Given the description of an element on the screen output the (x, y) to click on. 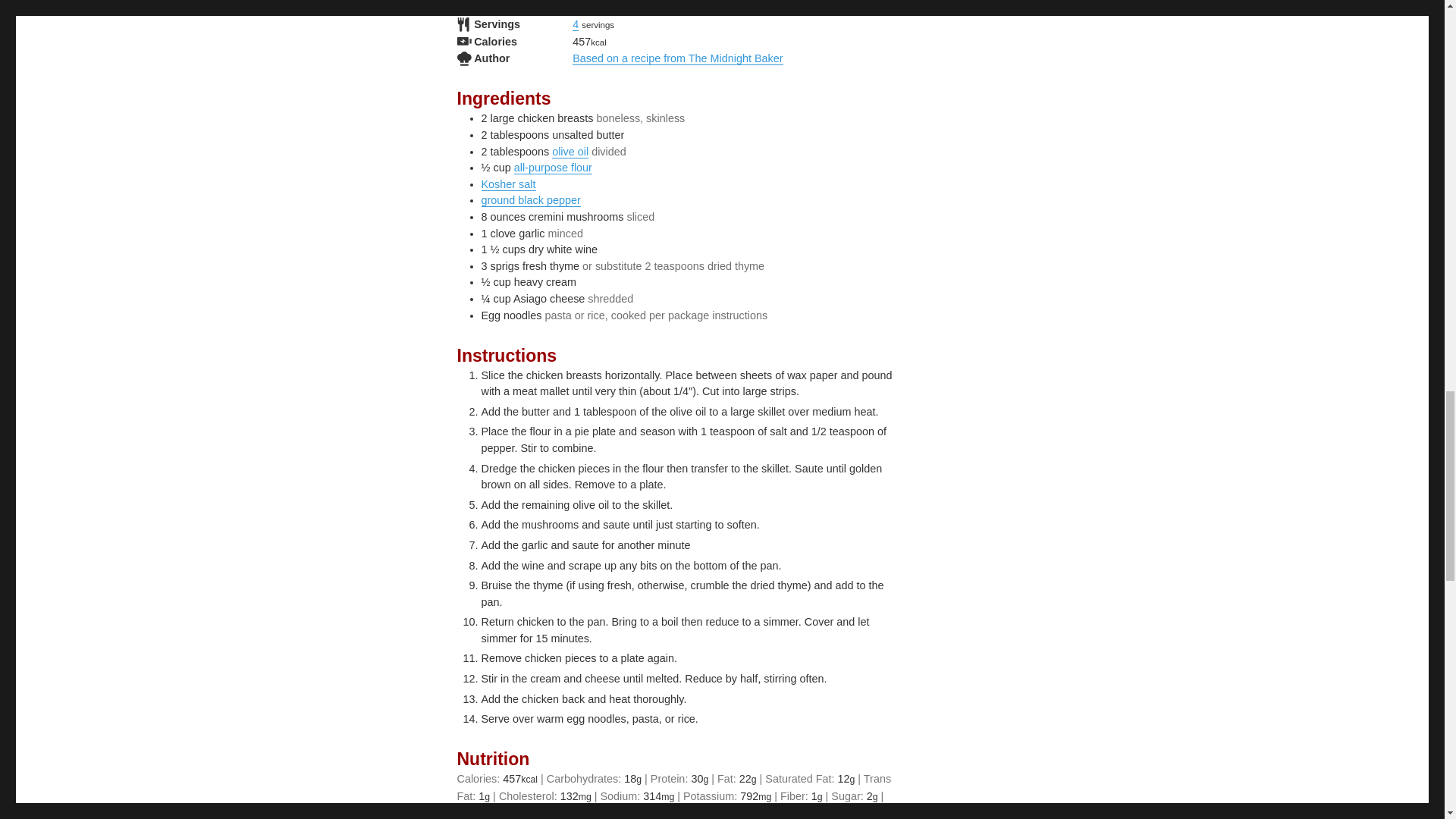
Based on a recipe from The Midnight Baker (677, 58)
olive oil (569, 151)
ground black pepper (529, 200)
Kosher salt (507, 184)
all-purpose flour (552, 167)
